Given the description of an element on the screen output the (x, y) to click on. 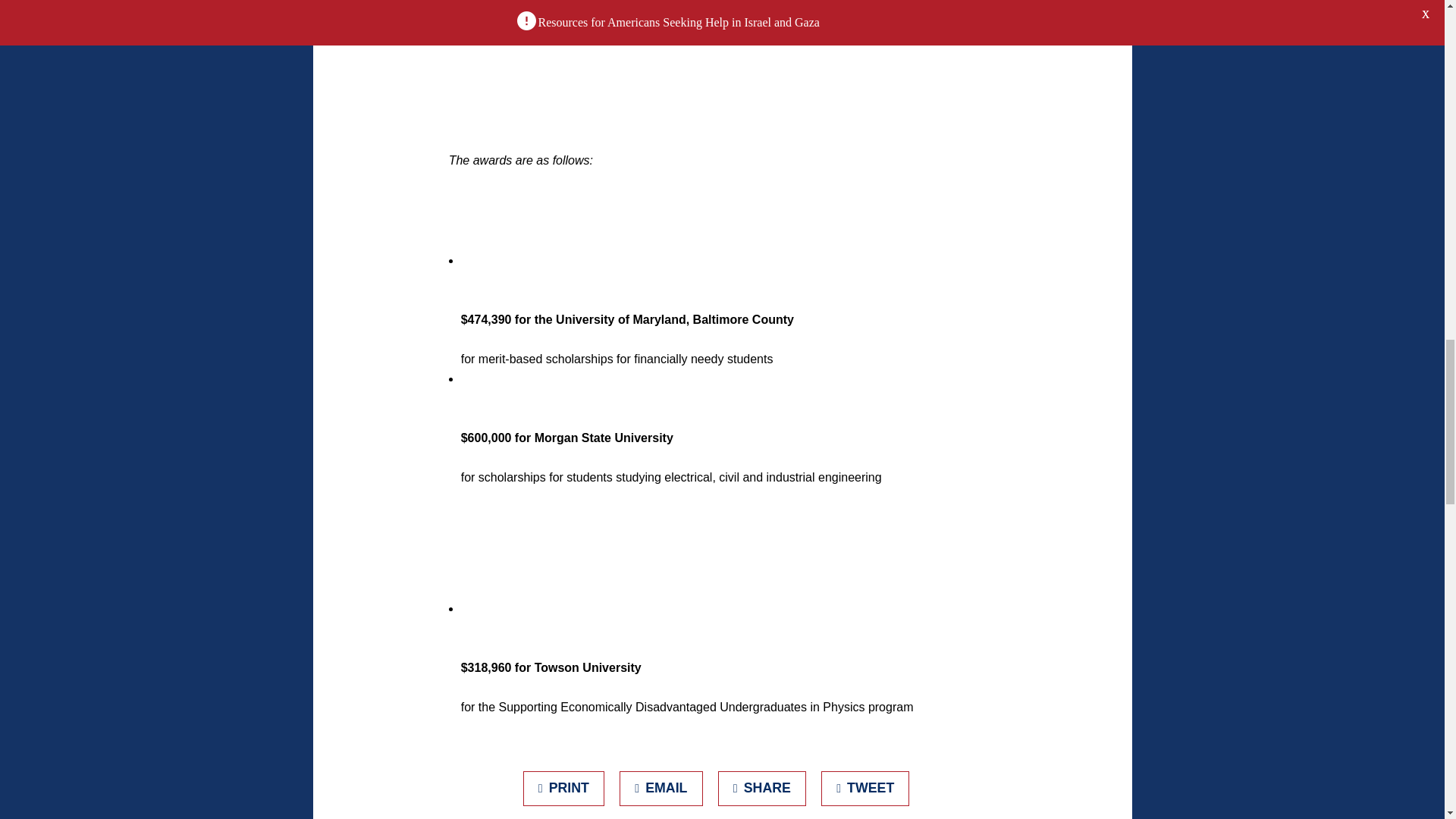
Print (563, 788)
Email (661, 788)
Share on Facebook (761, 788)
Tweet (865, 788)
